Given the description of an element on the screen output the (x, y) to click on. 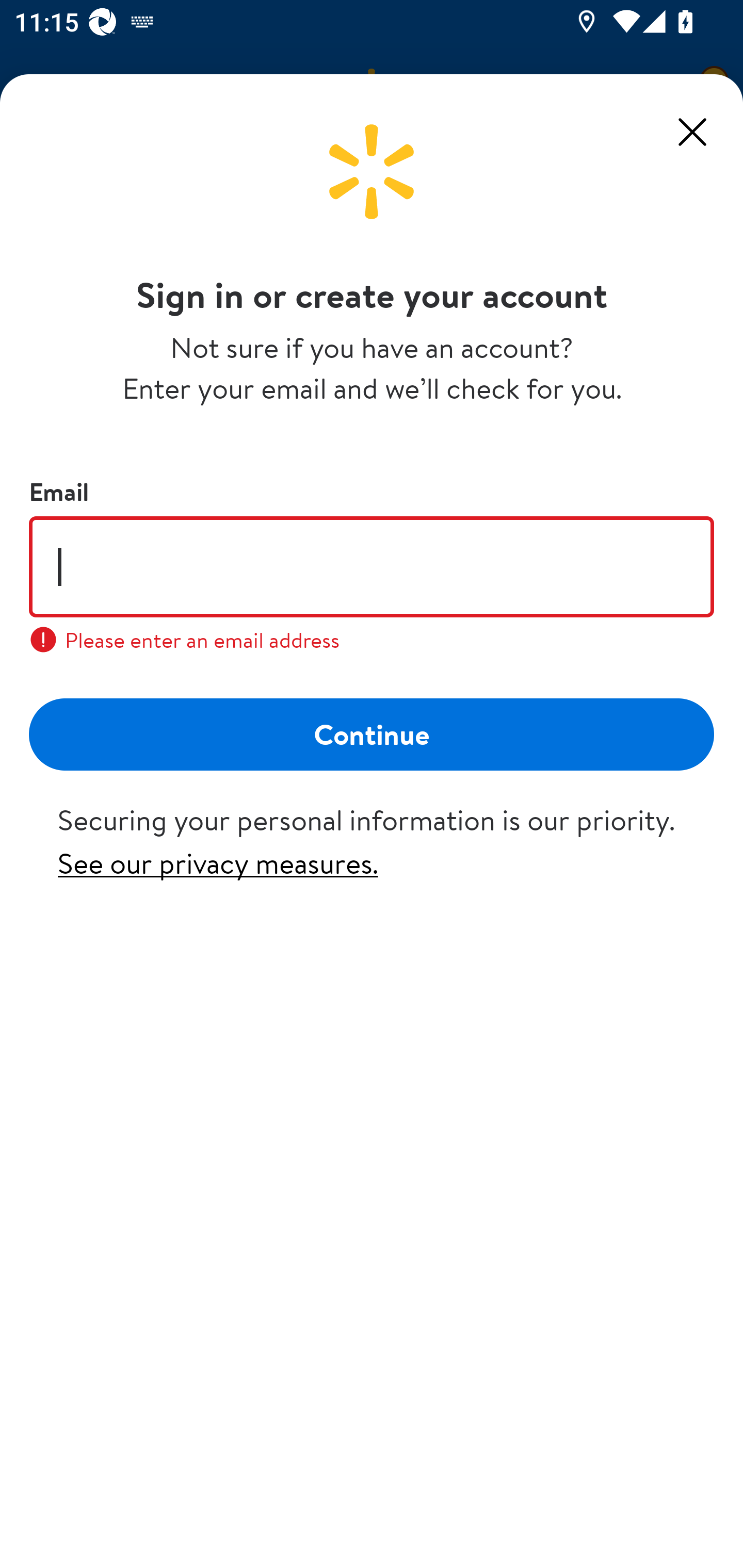
Close (692, 131)
Email (371, 566)
Continue (371, 733)
